Given the description of an element on the screen output the (x, y) to click on. 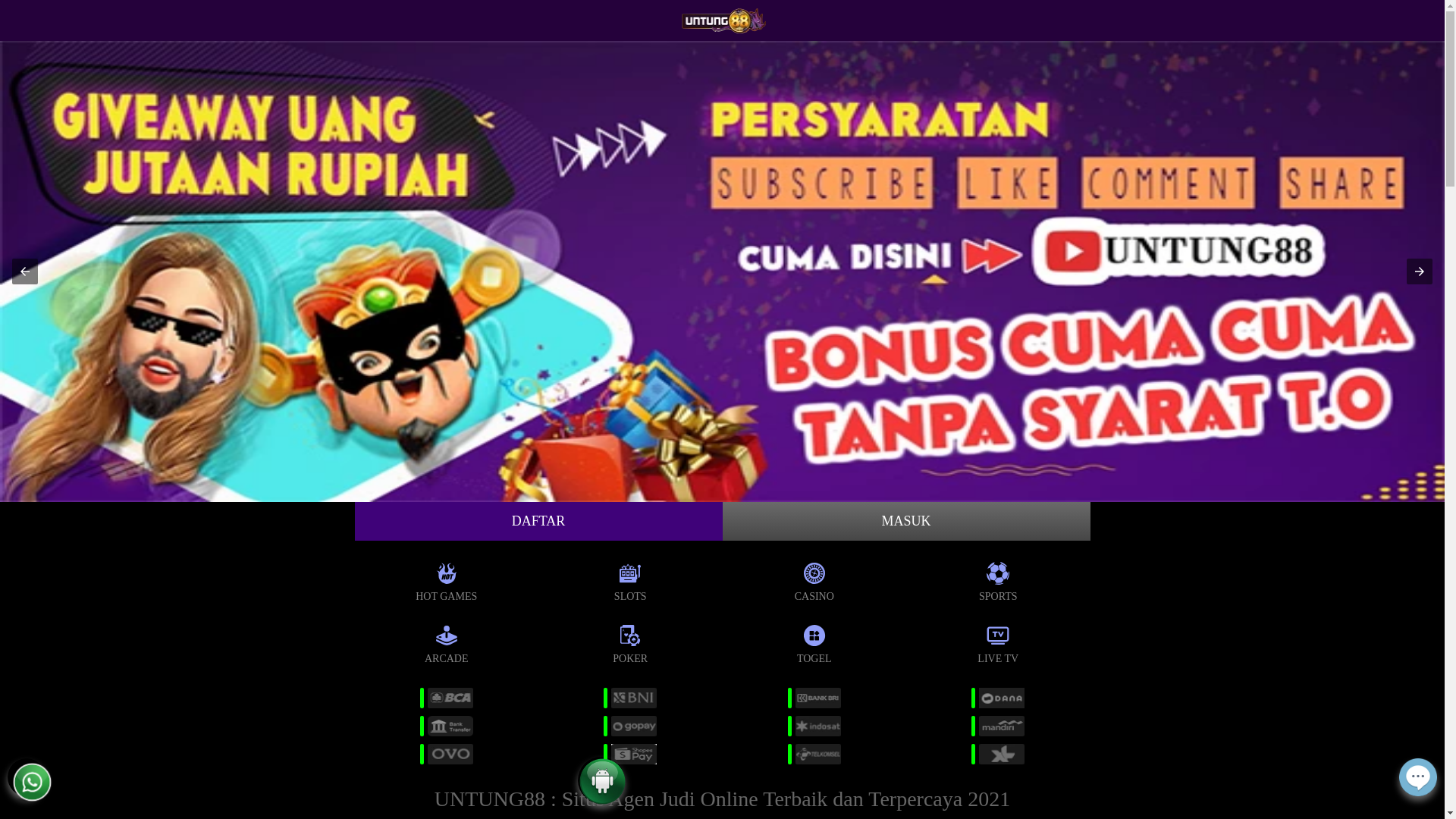
LIVE TV Element type: text (998, 641)
Download APK Element type: hover (602, 796)
TOGEL Element type: text (814, 641)
MASUK Element type: text (905, 521)
Previous item in carousel (2 of 3) Element type: hover (24, 271)
Next item in carousel (1 of 3) Element type: hover (1419, 271)
ARCADE Element type: text (445, 641)
CASINO Element type: text (814, 579)
POKER Element type: text (630, 641)
Live Chat Element type: hover (1418, 786)
HOT GAMES Element type: text (445, 579)
SPORTS Element type: text (998, 579)
SLOTS Element type: text (630, 579)
DAFTAR Element type: text (538, 521)
